Given the description of an element on the screen output the (x, y) to click on. 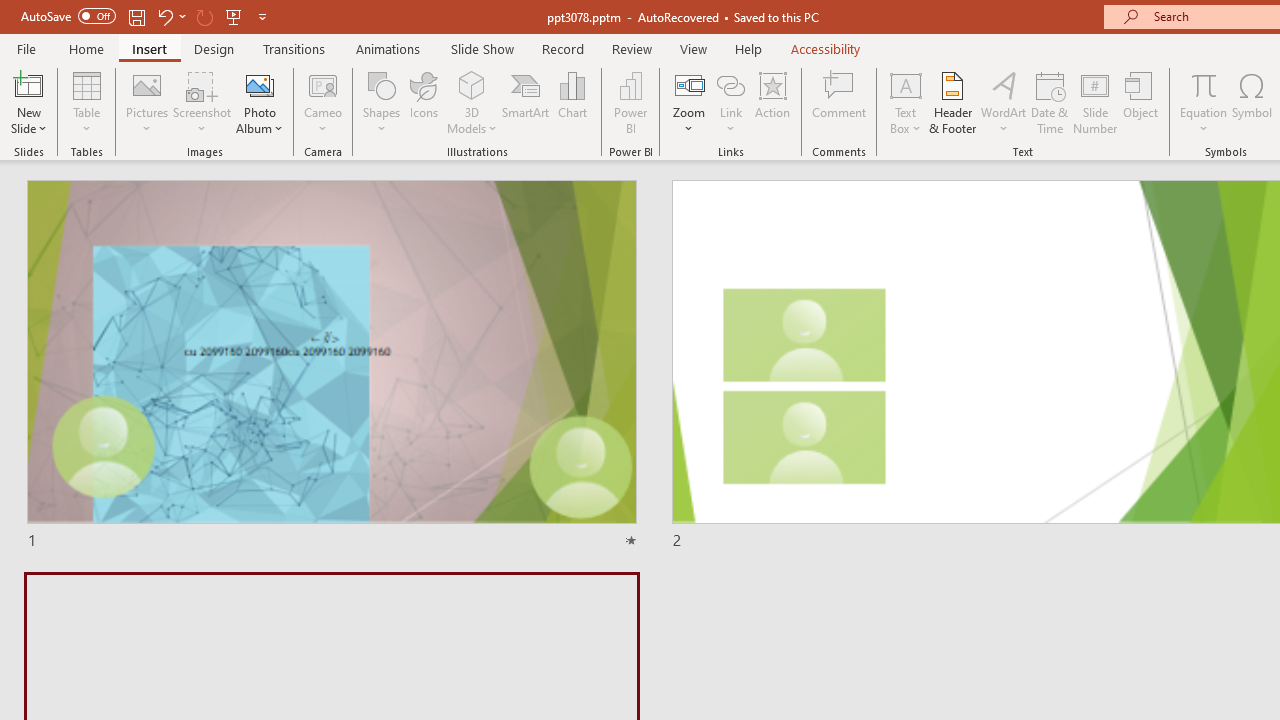
Table (86, 102)
Quick Access Toolbar (145, 16)
Insert (149, 48)
3D Models (472, 102)
Shapes (381, 102)
AutoSave (68, 16)
3D Models (472, 84)
New Slide (28, 84)
Design (214, 48)
